Given the description of an element on the screen output the (x, y) to click on. 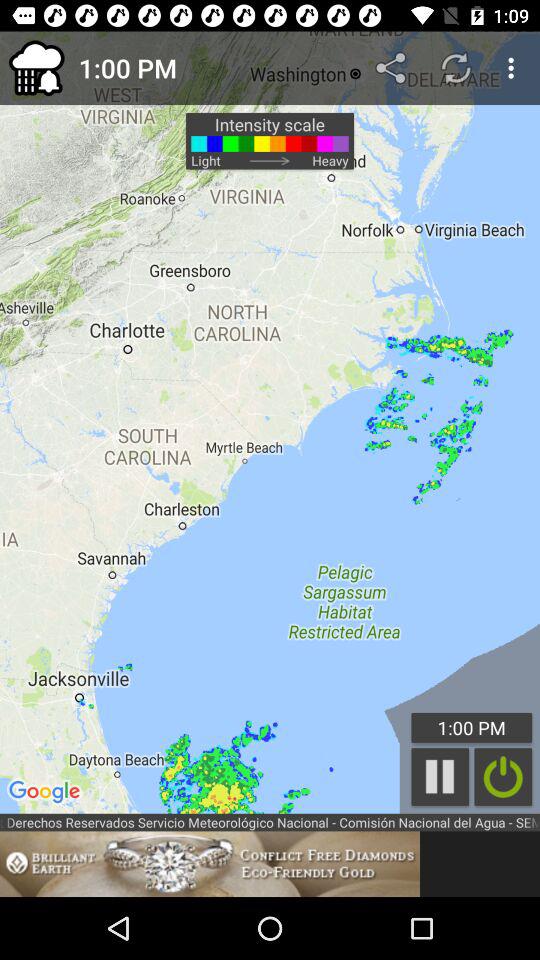
select the item below the 1:00 pm (503, 776)
